Given the description of an element on the screen output the (x, y) to click on. 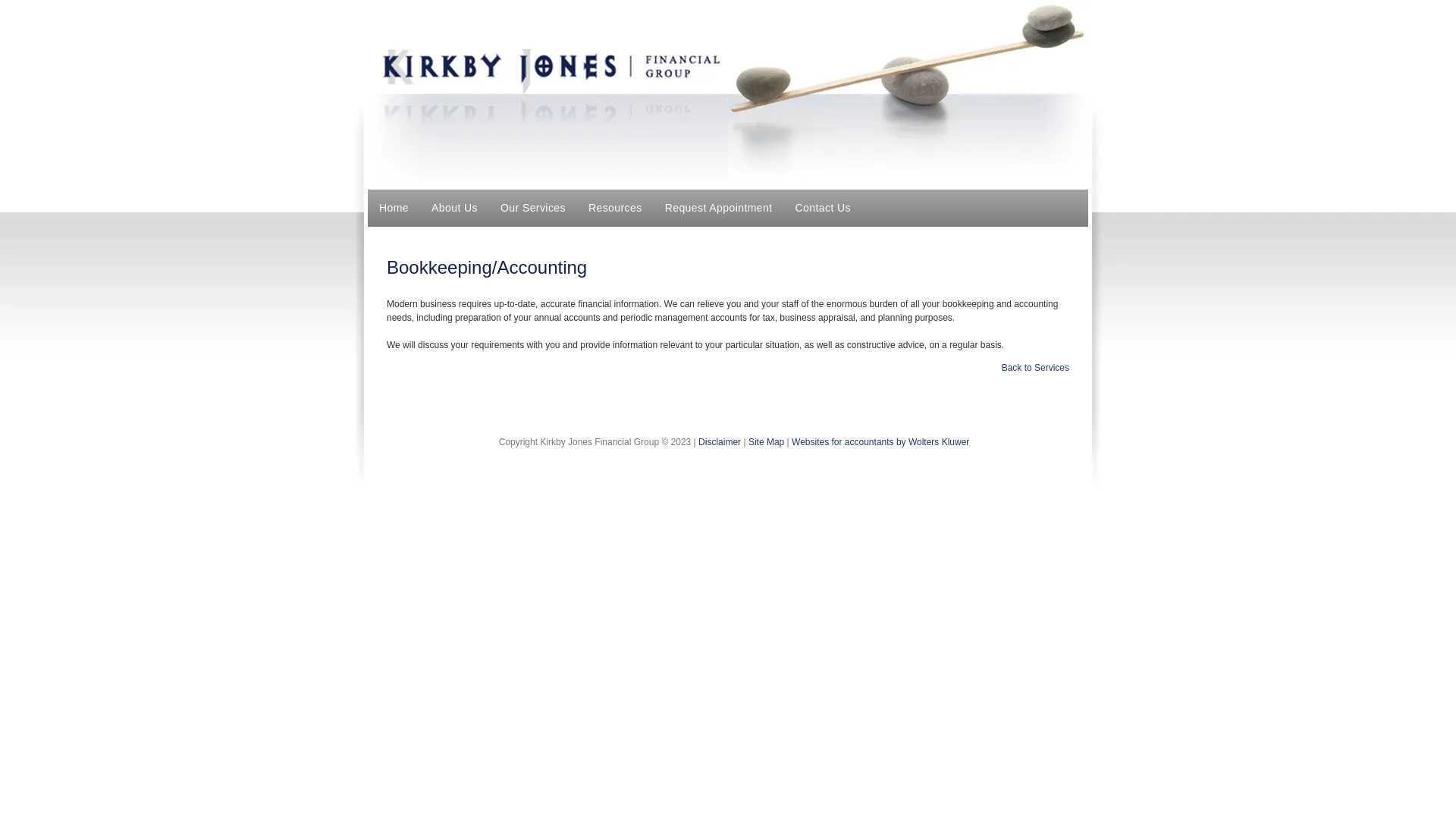
Contact Us Element type: text (823, 207)
Request Appointment Element type: text (718, 207)
Disclaimer Element type: text (719, 441)
Home Element type: text (393, 207)
Site Map Element type: text (766, 441)
Back to Services Element type: text (1035, 367)
Websites for accountants by Wolters Kluwer Element type: text (880, 441)
Our Services Element type: text (533, 207)
About Us Element type: text (454, 207)
Resources Element type: text (615, 207)
